Given the description of an element on the screen output the (x, y) to click on. 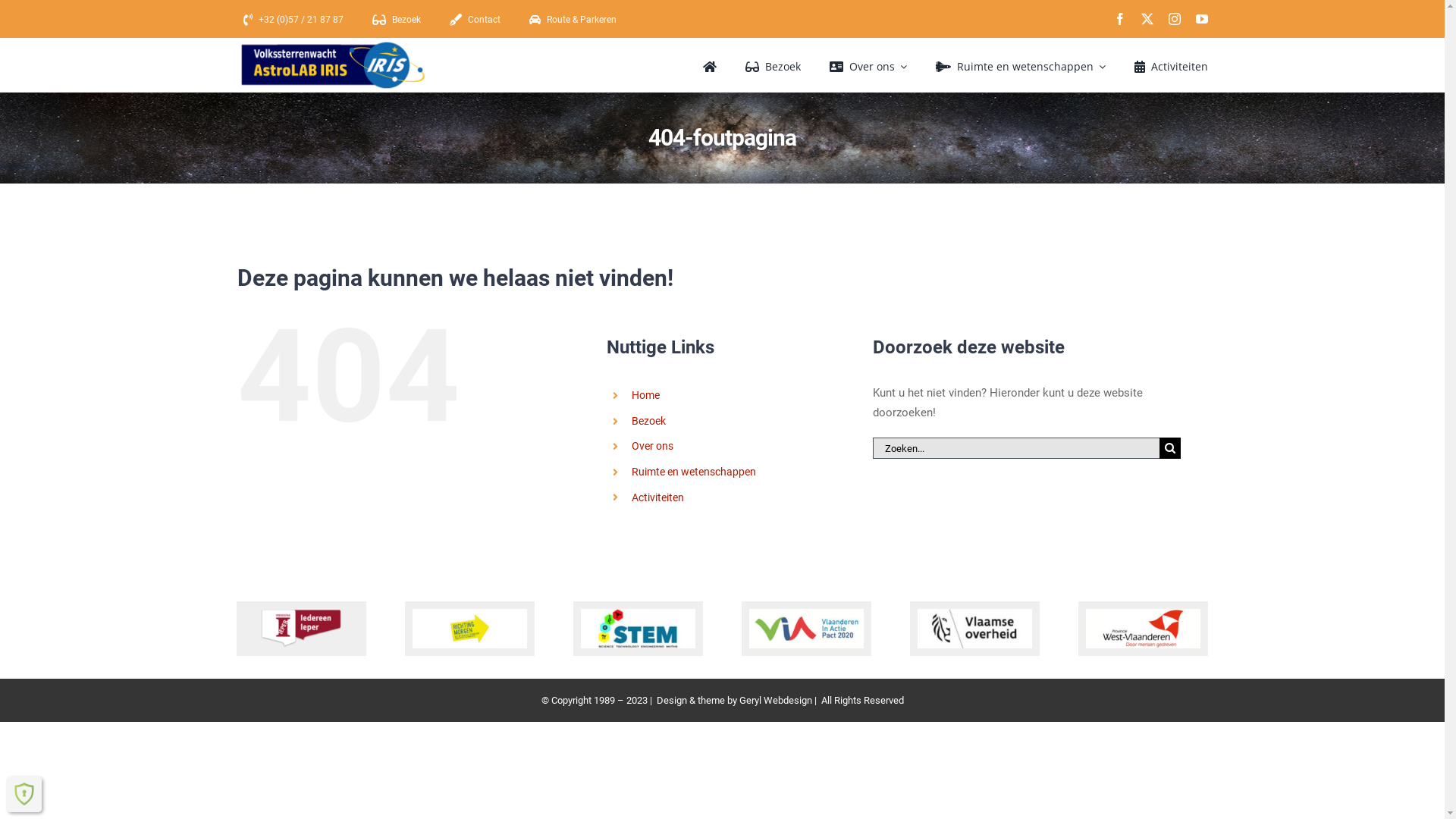
Bezoek Element type: text (648, 420)
Route & Parkeren Element type: text (575, 19)
Ruimte en wetenschappen Element type: text (693, 471)
Shield Security Element type: hover (24, 793)
Geryl Webdesign Element type: text (774, 700)
Home Element type: text (645, 395)
Over ons Element type: text (652, 445)
Ruimte en wetenschappen Element type: text (1017, 64)
Bezoek Element type: text (769, 64)
Activiteiten Element type: text (657, 497)
Bezoek Element type: text (398, 19)
Activiteiten Element type: text (1168, 64)
Over ons Element type: text (864, 64)
Contact Element type: text (476, 19)
+32 (0)57 / 21 87 87 Element type: text (295, 19)
